Given the description of an element on the screen output the (x, y) to click on. 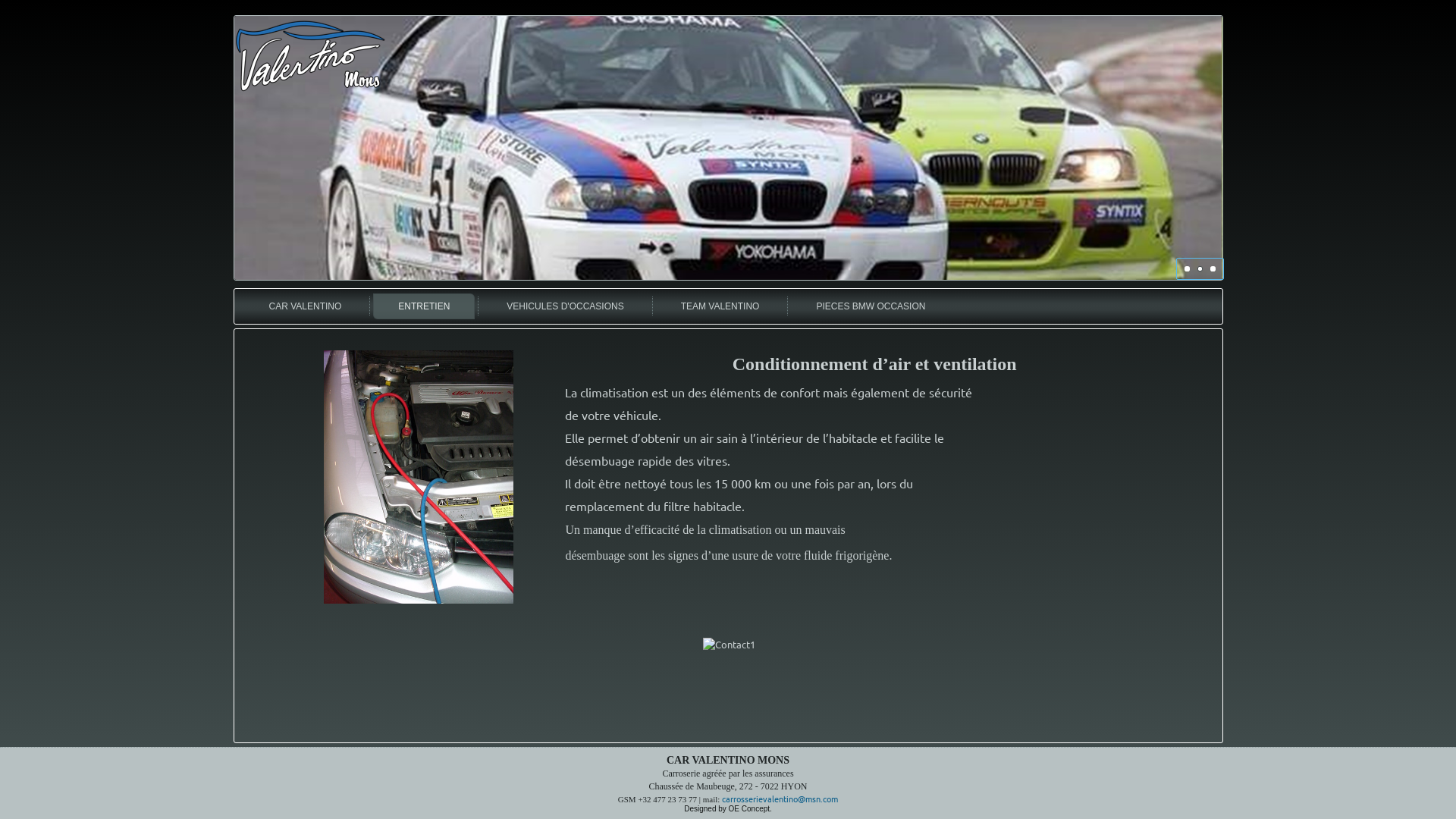
TEAM VALENTINO Element type: text (719, 306)
carrosserievalentino@msn.com Element type: text (779, 798)
CAR VALENTINO Element type: text (305, 306)
PIECES BMW OCCASION Element type: text (870, 306)
ENTRETIEN Element type: text (423, 306)
VEHICULES D'OCCASIONS Element type: text (564, 306)
